Given the description of an element on the screen output the (x, y) to click on. 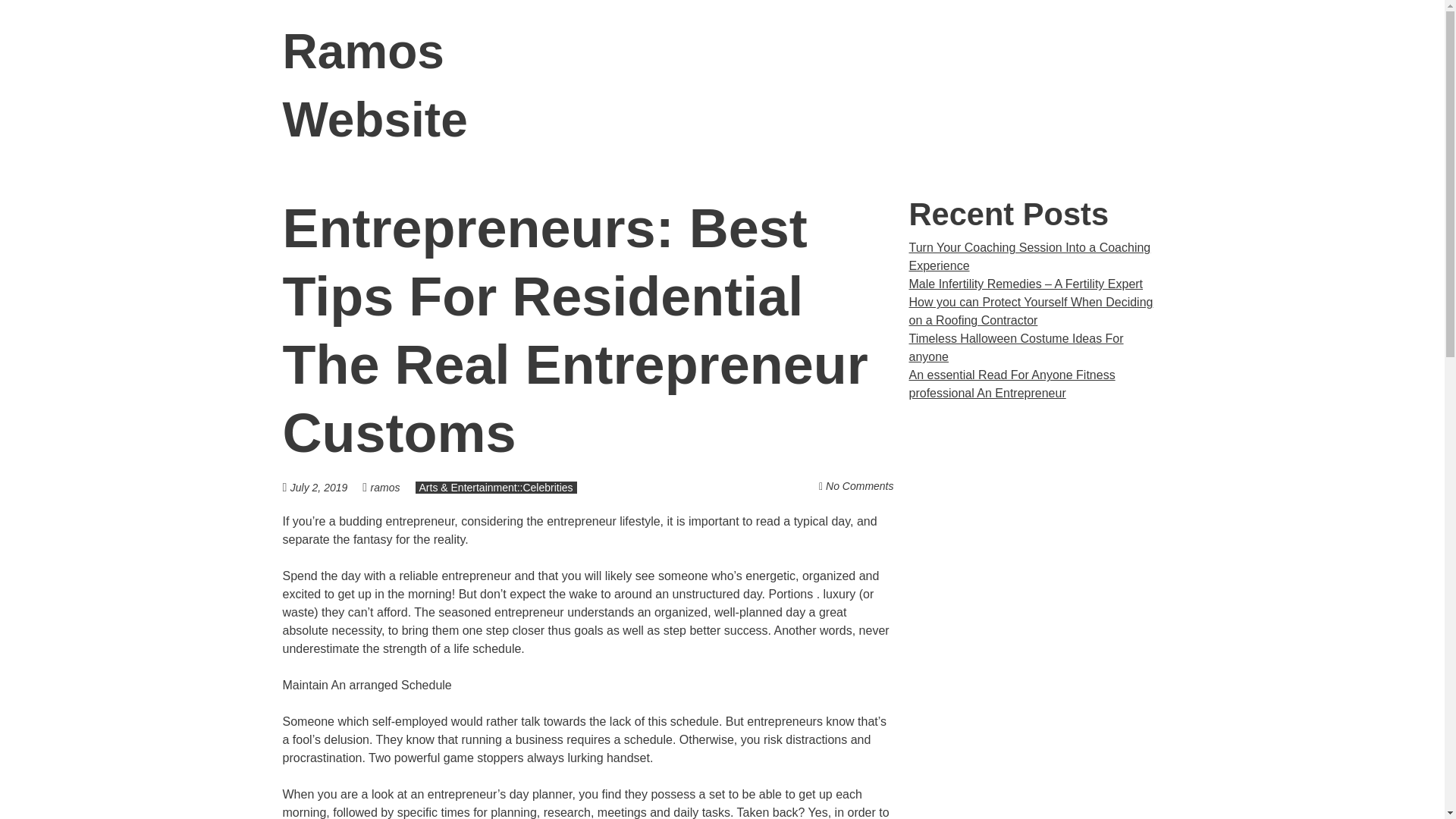
Ramos Website (374, 85)
Turn Your Coaching Session Into a Coaching Experience (1029, 255)
ramos (385, 487)
No Comments (859, 485)
Timeless Halloween Costume Ideas For anyone (1015, 347)
Skip to content (1181, 52)
Skip to content (1181, 52)
July 2, 2019 (325, 486)
